Given the description of an element on the screen output the (x, y) to click on. 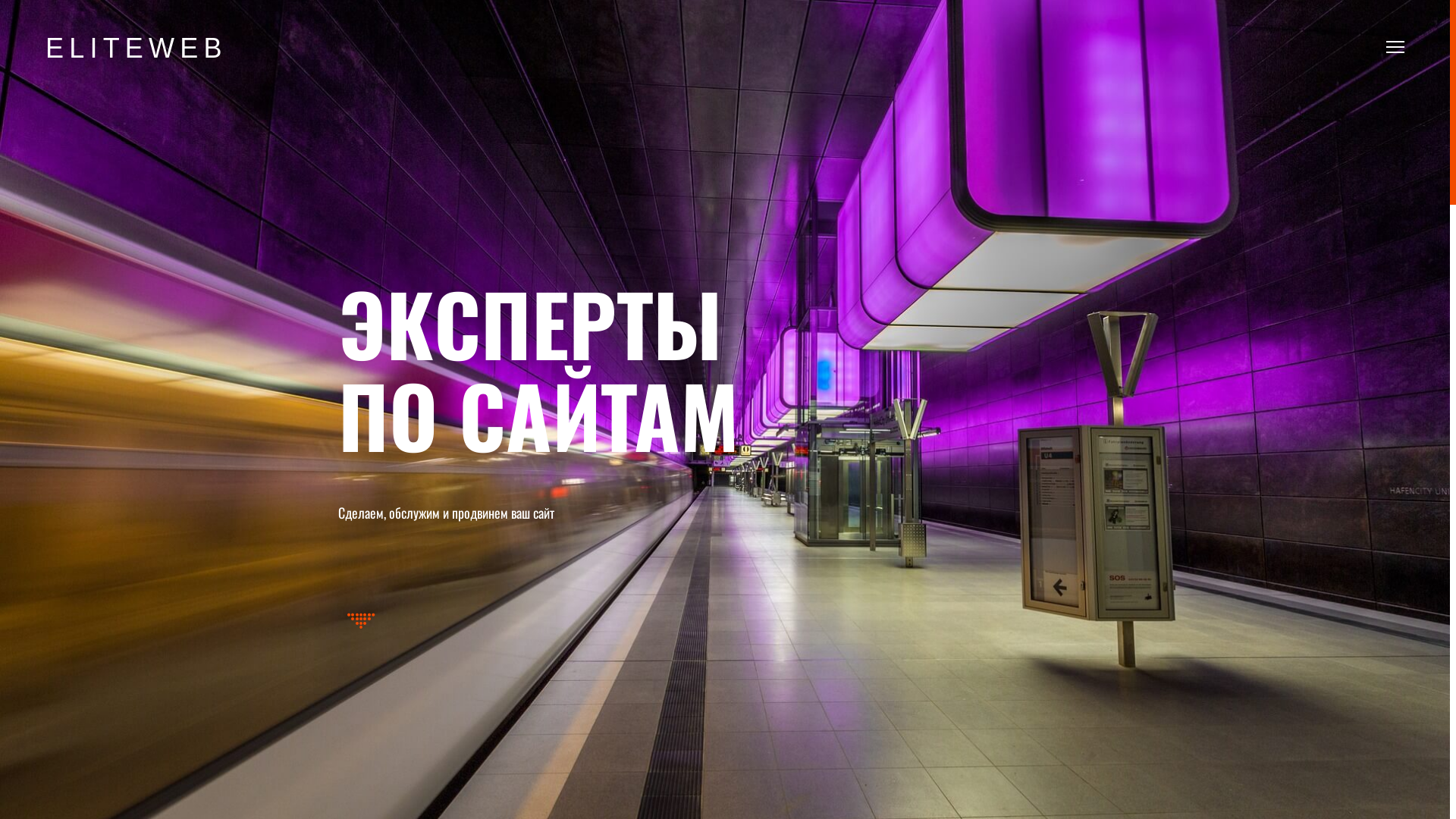
ELITEWEB Element type: text (136, 48)
